Given the description of an element on the screen output the (x, y) to click on. 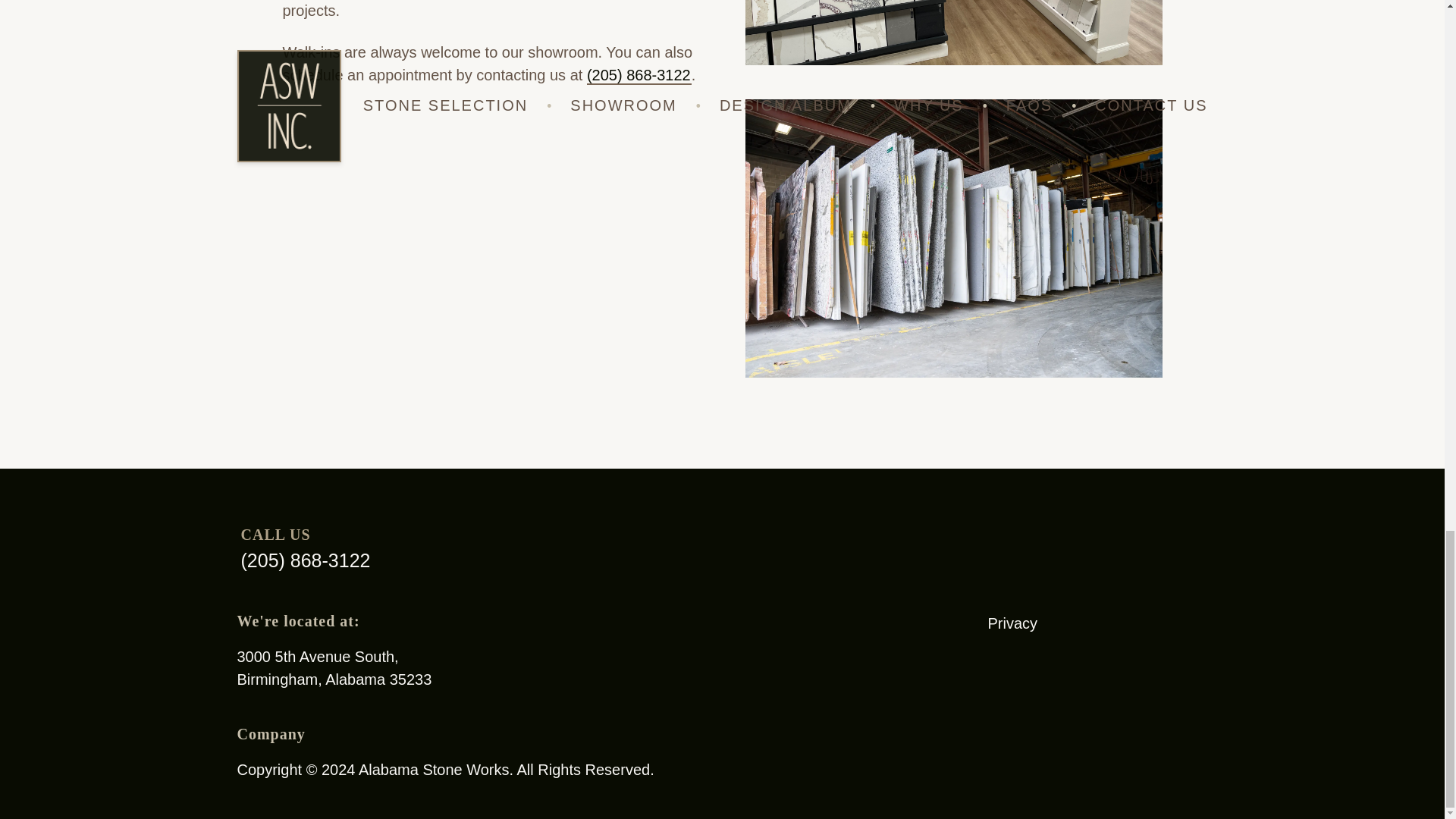
Privacy (332, 667)
